Given the description of an element on the screen output the (x, y) to click on. 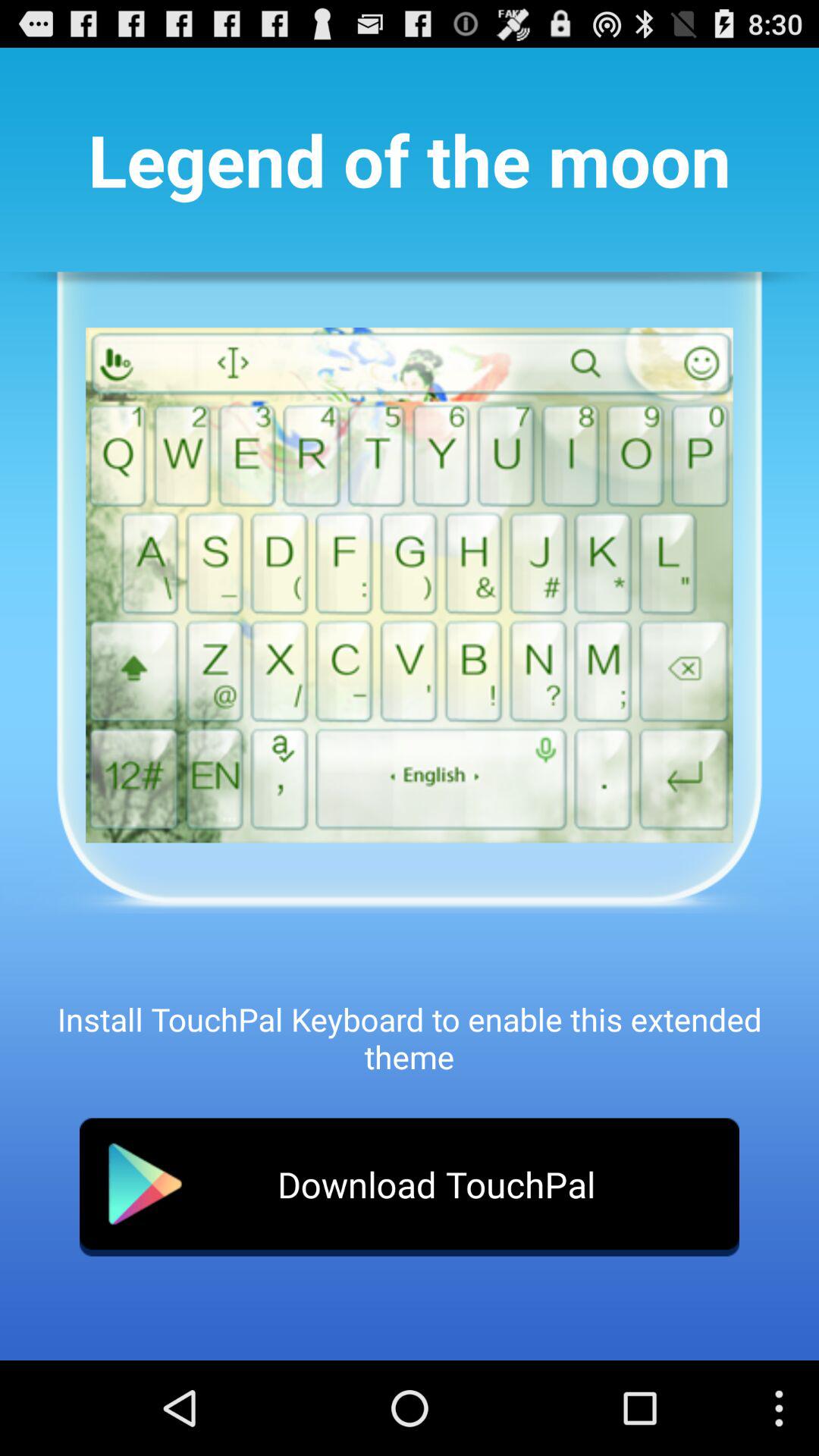
turn off the icon below install touchpal keyboard item (409, 1187)
